Given the description of an element on the screen output the (x, y) to click on. 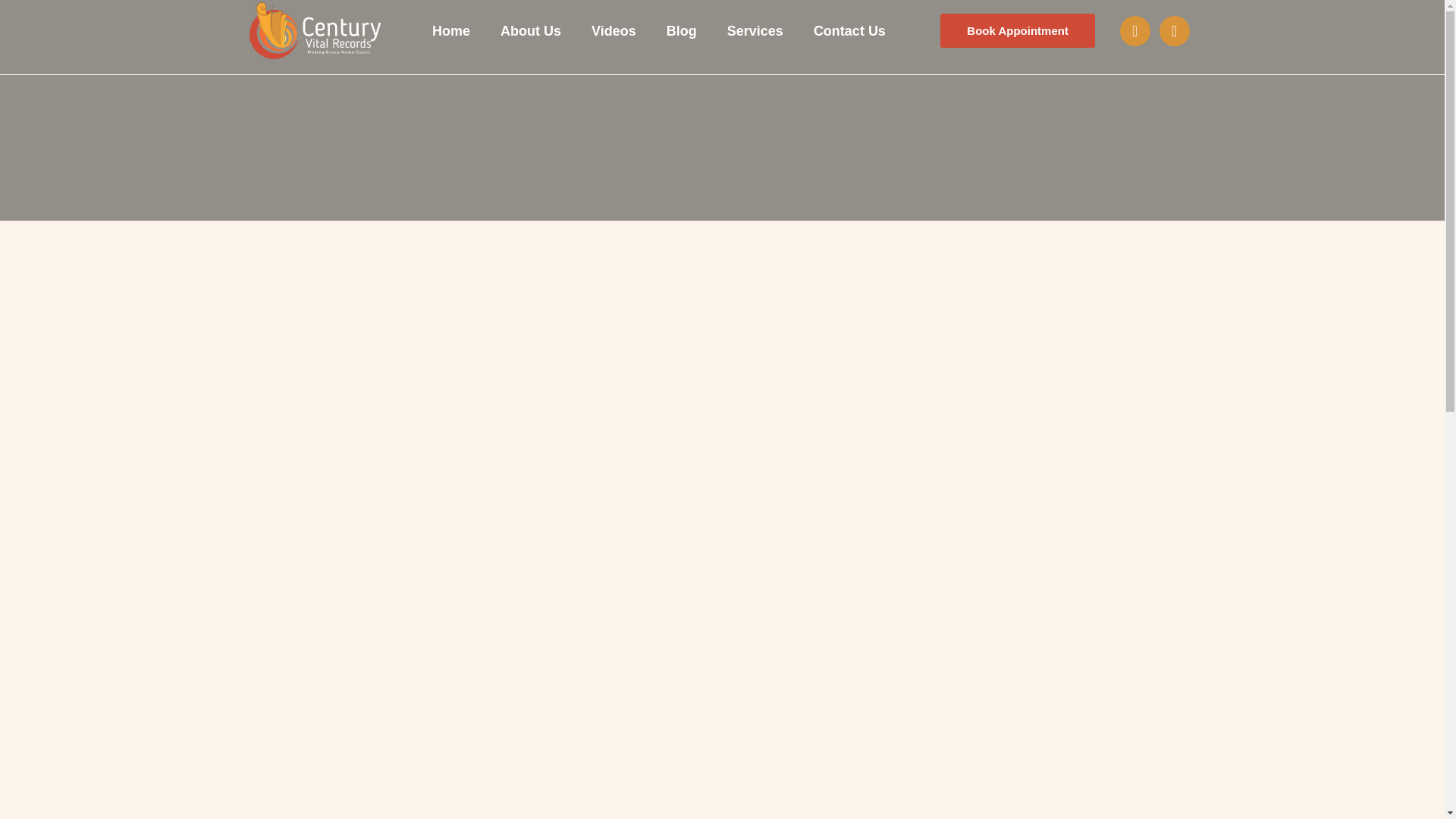
Videos (613, 30)
Book Appointment (1017, 30)
Services (754, 30)
Home (450, 30)
Blog (680, 30)
About Us (530, 30)
Contact Us (849, 30)
